Given the description of an element on the screen output the (x, y) to click on. 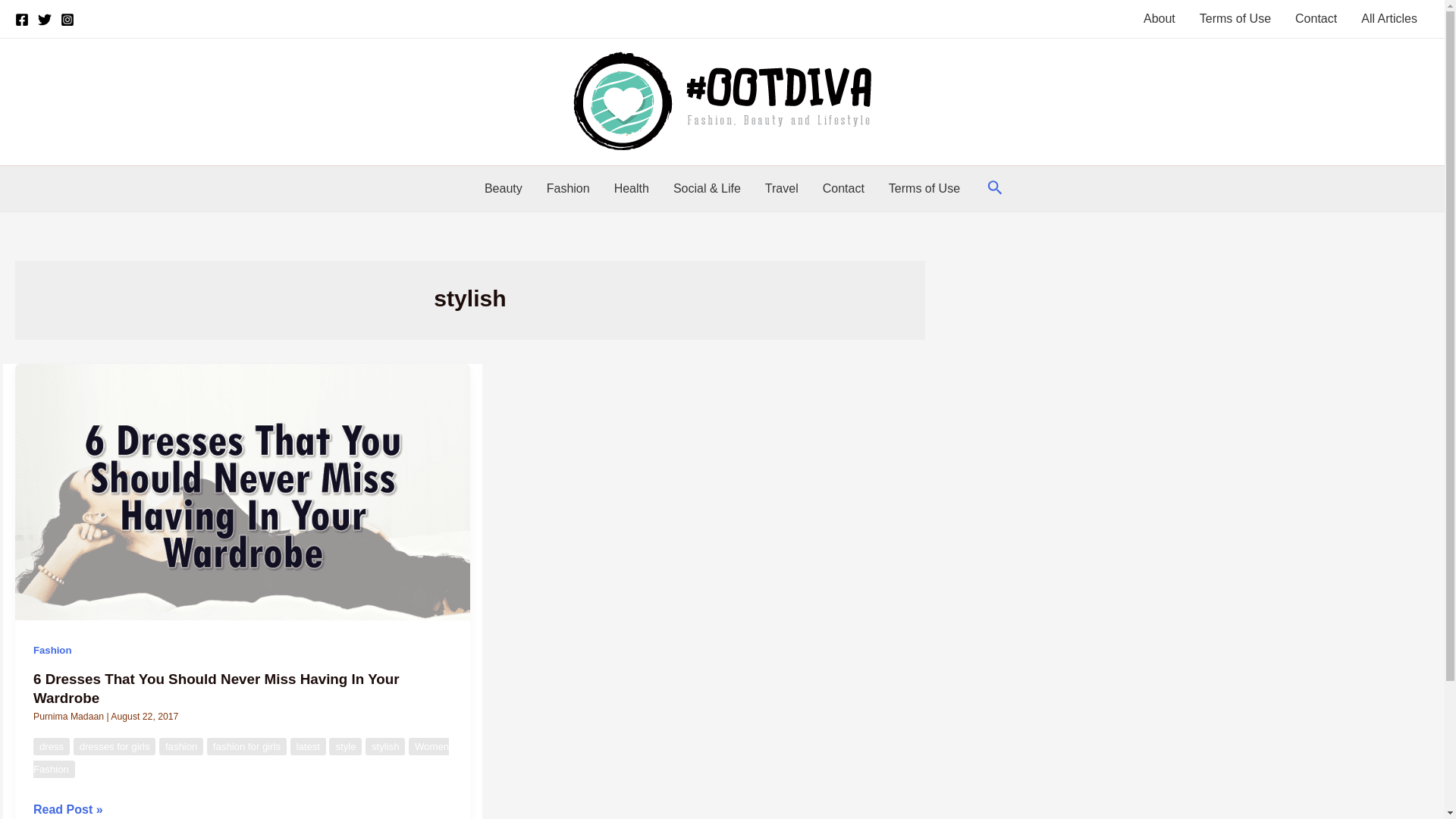
Fashion (568, 188)
Purnima Madaan (69, 716)
About (1159, 18)
Beauty (502, 188)
Fashion (52, 650)
dresses for girls (114, 746)
dress (51, 746)
Travel (781, 188)
Terms of Use (1235, 18)
Contact (843, 188)
